Given the description of an element on the screen output the (x, y) to click on. 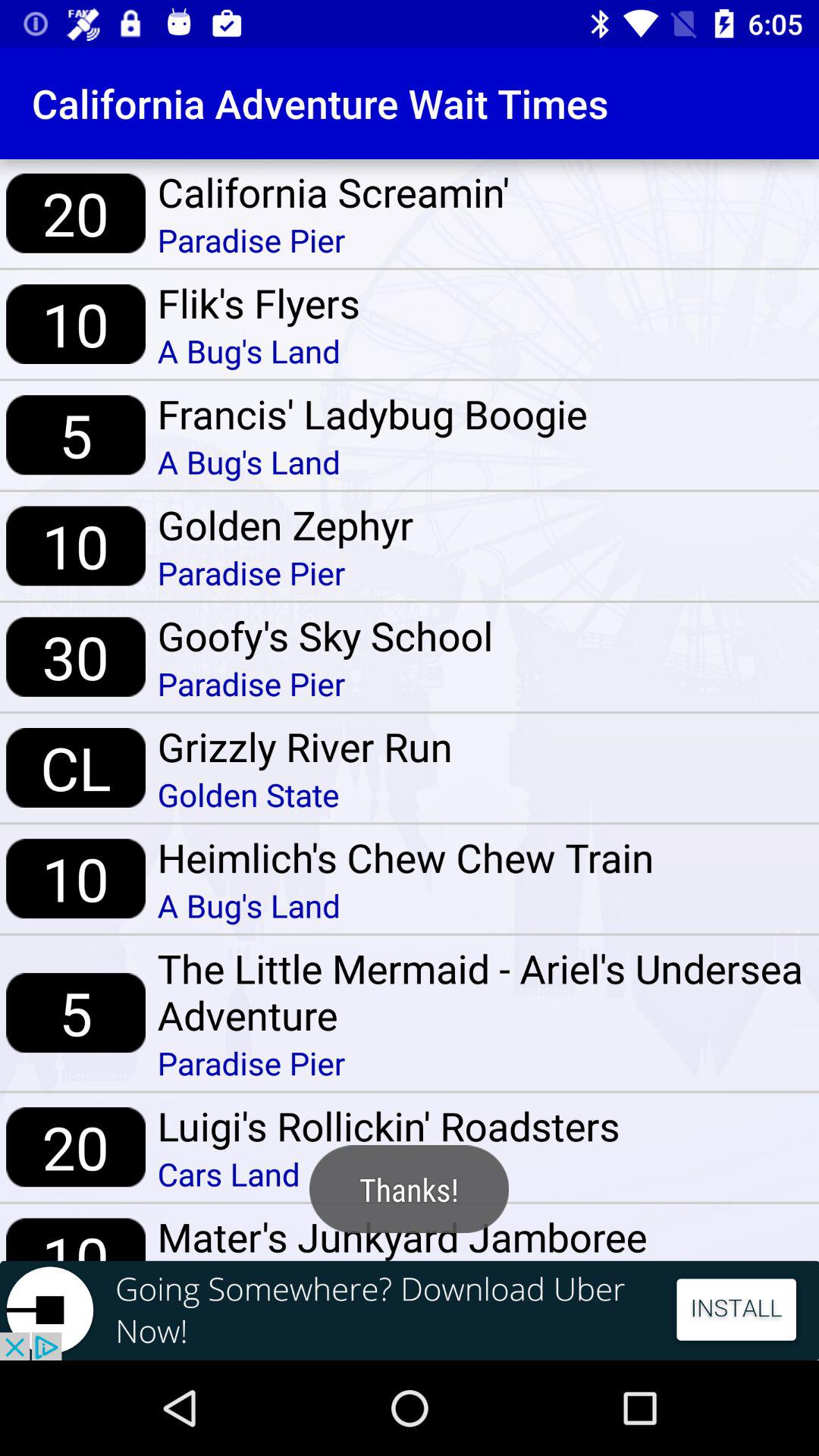
choose item next to the 5 (481, 991)
